Given the description of an element on the screen output the (x, y) to click on. 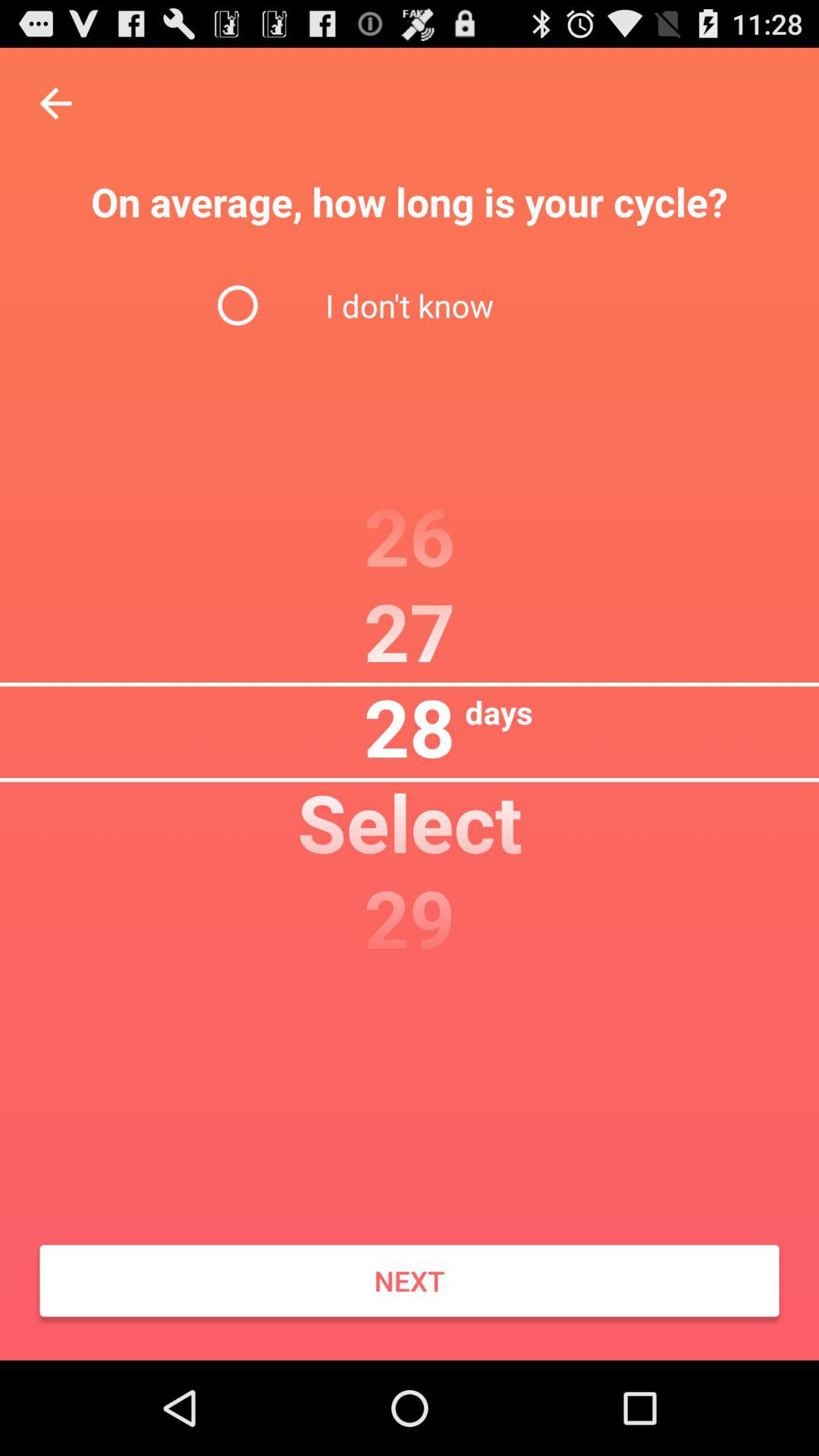
go back (55, 103)
